Given the description of an element on the screen output the (x, y) to click on. 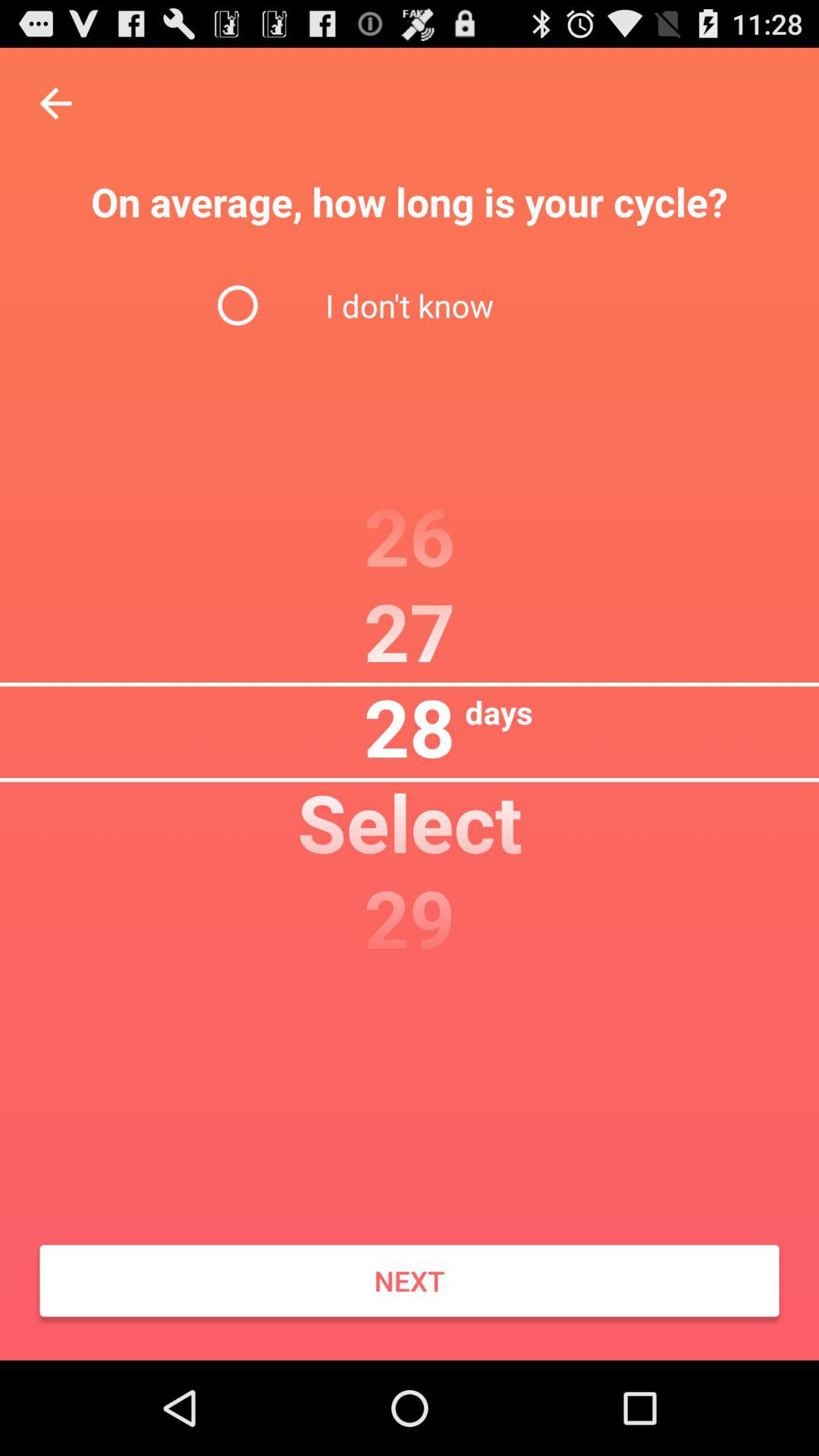
go back (55, 103)
